Given the description of an element on the screen output the (x, y) to click on. 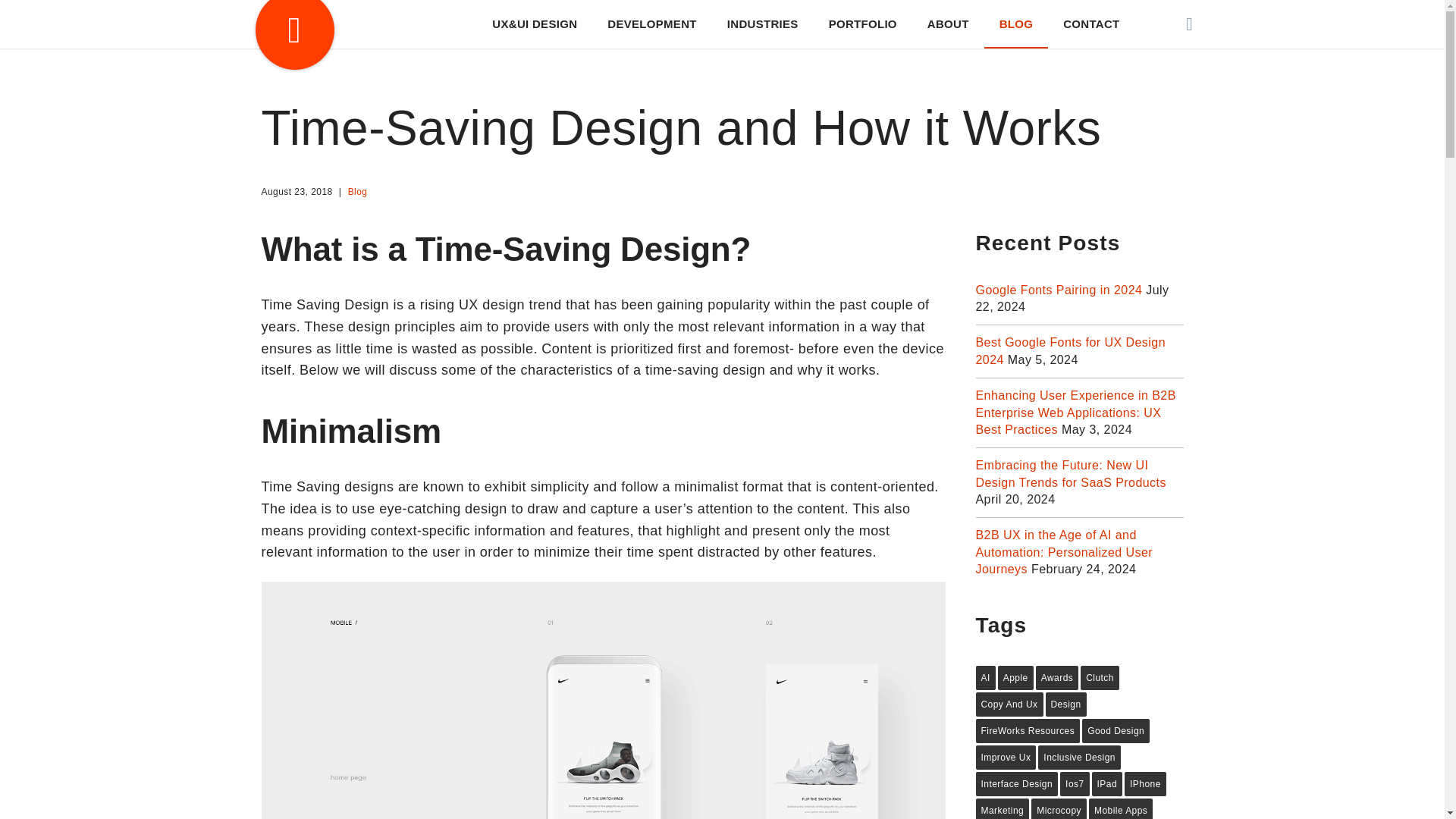
Ios7 (1074, 784)
IPhone (1145, 784)
Design (1065, 704)
Marketing (1002, 808)
FireWorks Resources (1027, 730)
Good Design (1115, 730)
Embracing the Future: New UI Design Trends for SaaS Products (1070, 473)
Blog (357, 191)
Apple (1015, 677)
